Given the description of an element on the screen output the (x, y) to click on. 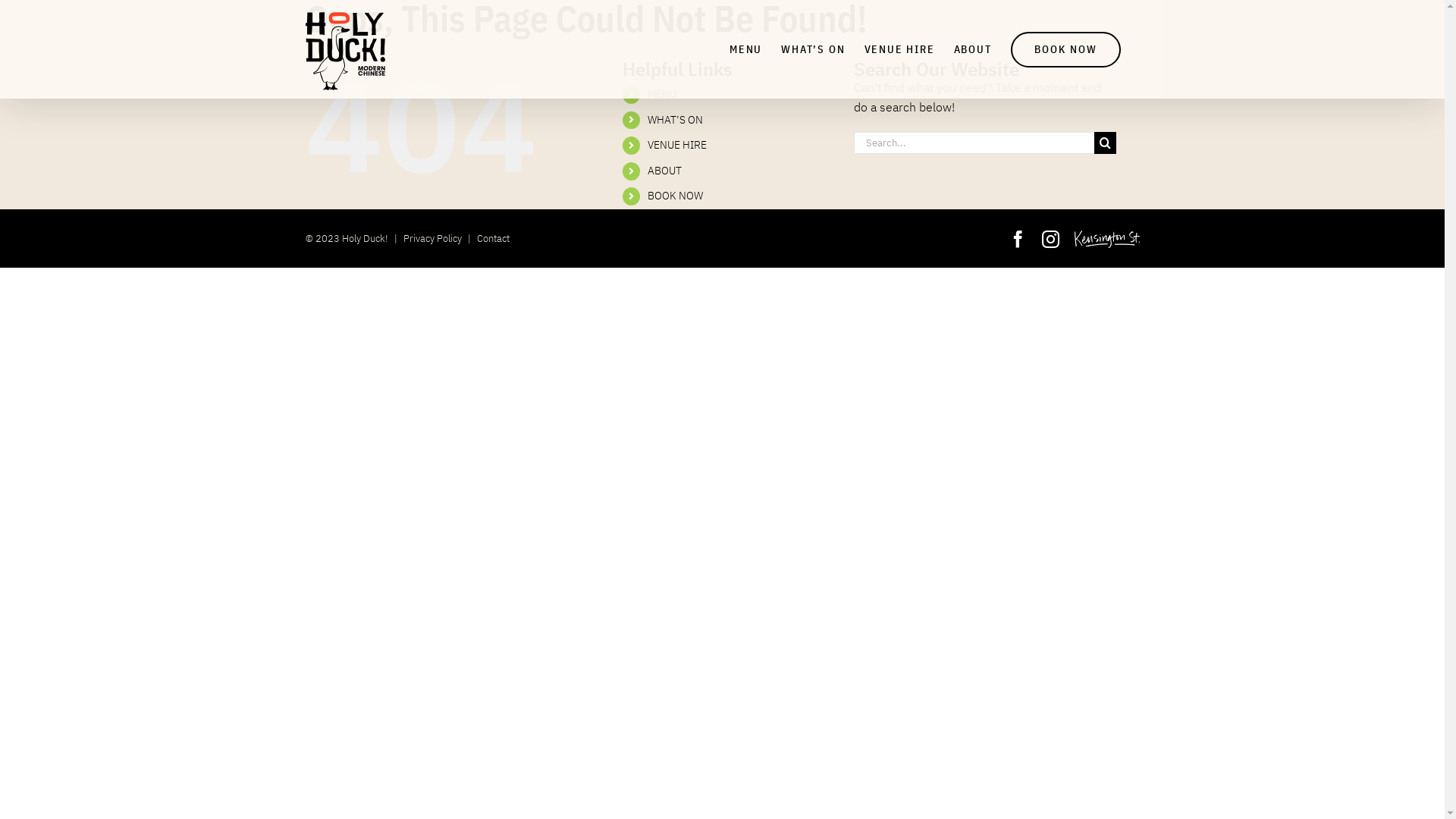
Kensington Street Element type: text (1106, 233)
VENUE HIRE Element type: text (899, 49)
VENUE HIRE Element type: text (676, 144)
BOOK NOW Element type: text (674, 195)
Facebook Element type: text (1017, 238)
MENU Element type: text (745, 49)
Contact Element type: text (492, 238)
Privacy Policy Element type: text (432, 238)
ABOUT Element type: text (664, 170)
MENU Element type: text (661, 93)
ABOUT Element type: text (972, 49)
BOOK NOW Element type: text (1065, 49)
Instagram Element type: text (1050, 238)
